Given the description of an element on the screen output the (x, y) to click on. 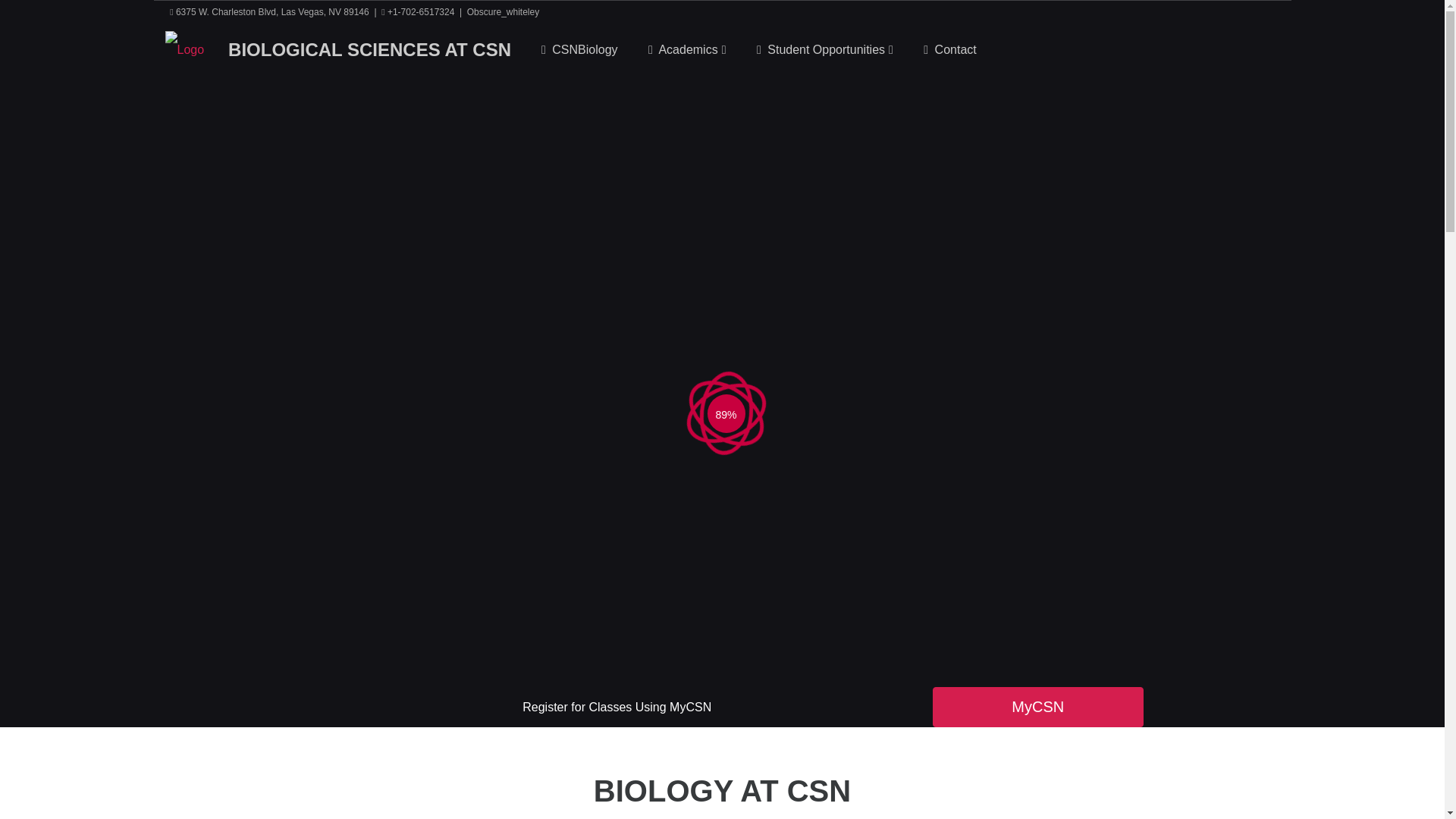
BIOLOGICAL SCIENCES AT CSN (369, 49)
Contact (949, 49)
Registration portal for CSN (1037, 707)
CSNBiology (579, 49)
Academics (687, 49)
Student Opportunities (824, 49)
MyCSN (1037, 707)
